Given the description of an element on the screen output the (x, y) to click on. 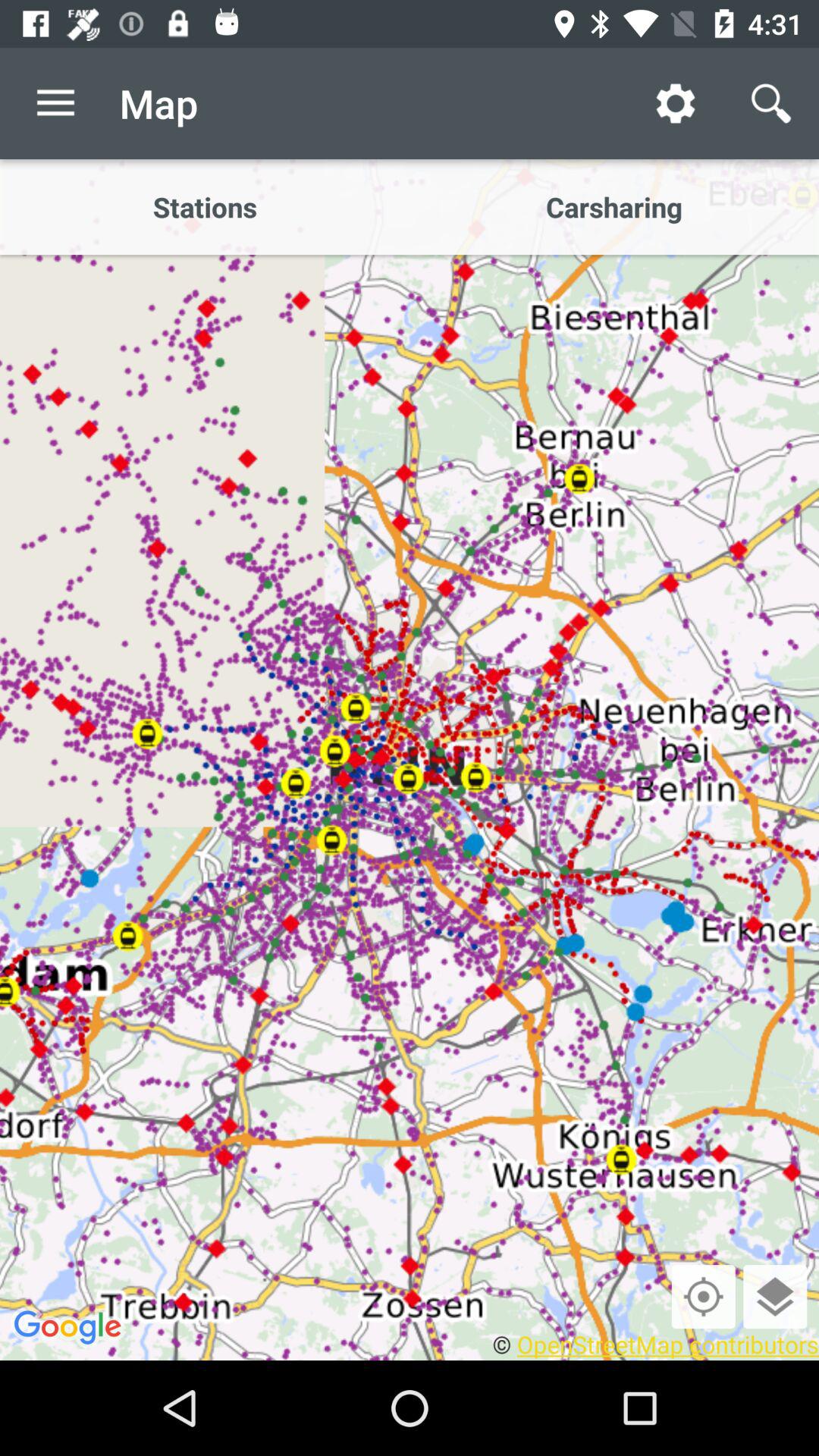
press app to the left of map item (55, 103)
